Given the description of an element on the screen output the (x, y) to click on. 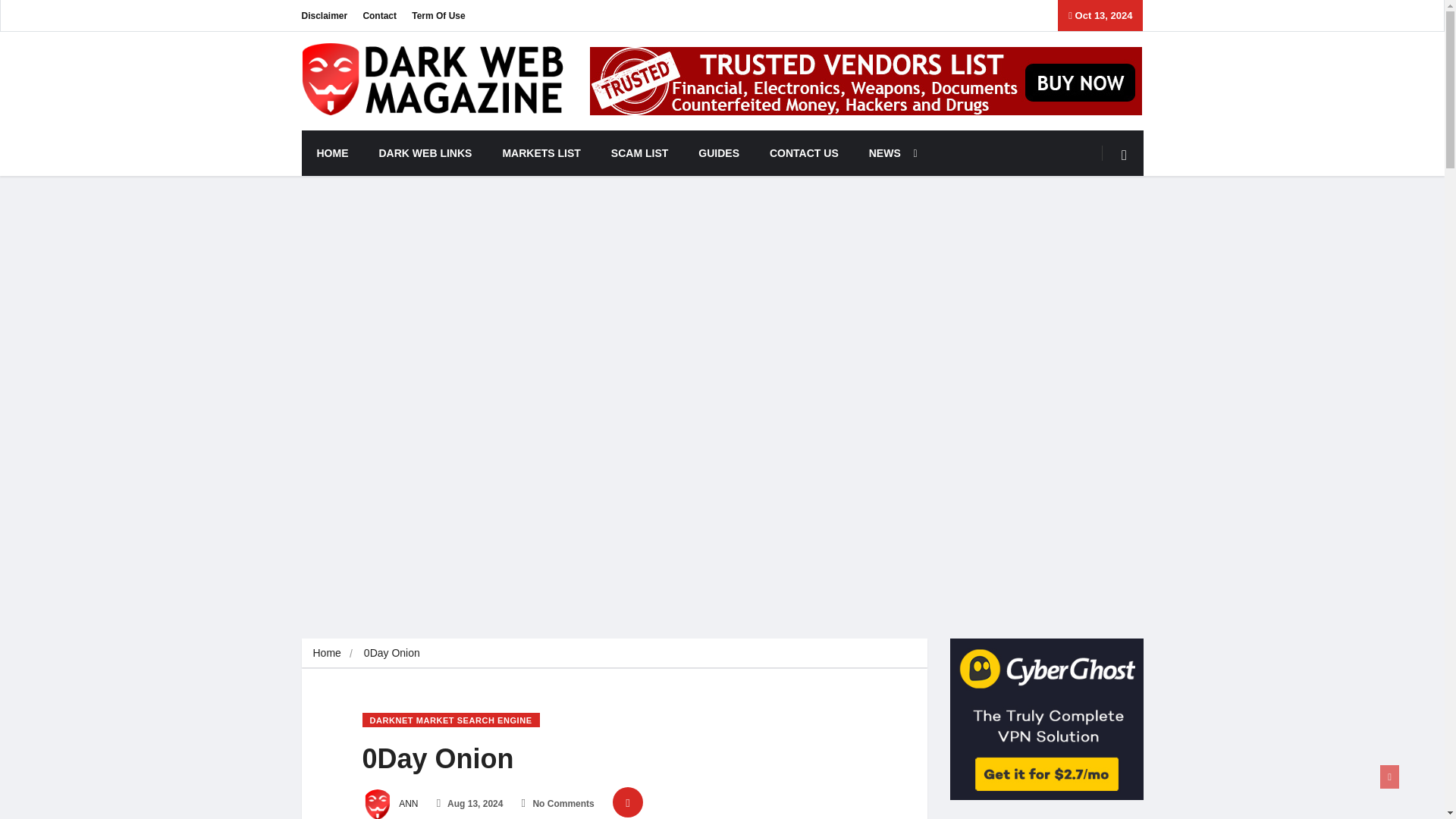
NEWS (888, 153)
HOME (332, 153)
Term Of Use (438, 15)
DARK WEB LINKS (425, 153)
MARKETS LIST (540, 153)
GUIDES (718, 153)
Contact (379, 15)
DARKNET MARKET SEARCH ENGINE (451, 719)
Disclaimer (324, 15)
Home (326, 653)
